Given the description of an element on the screen output the (x, y) to click on. 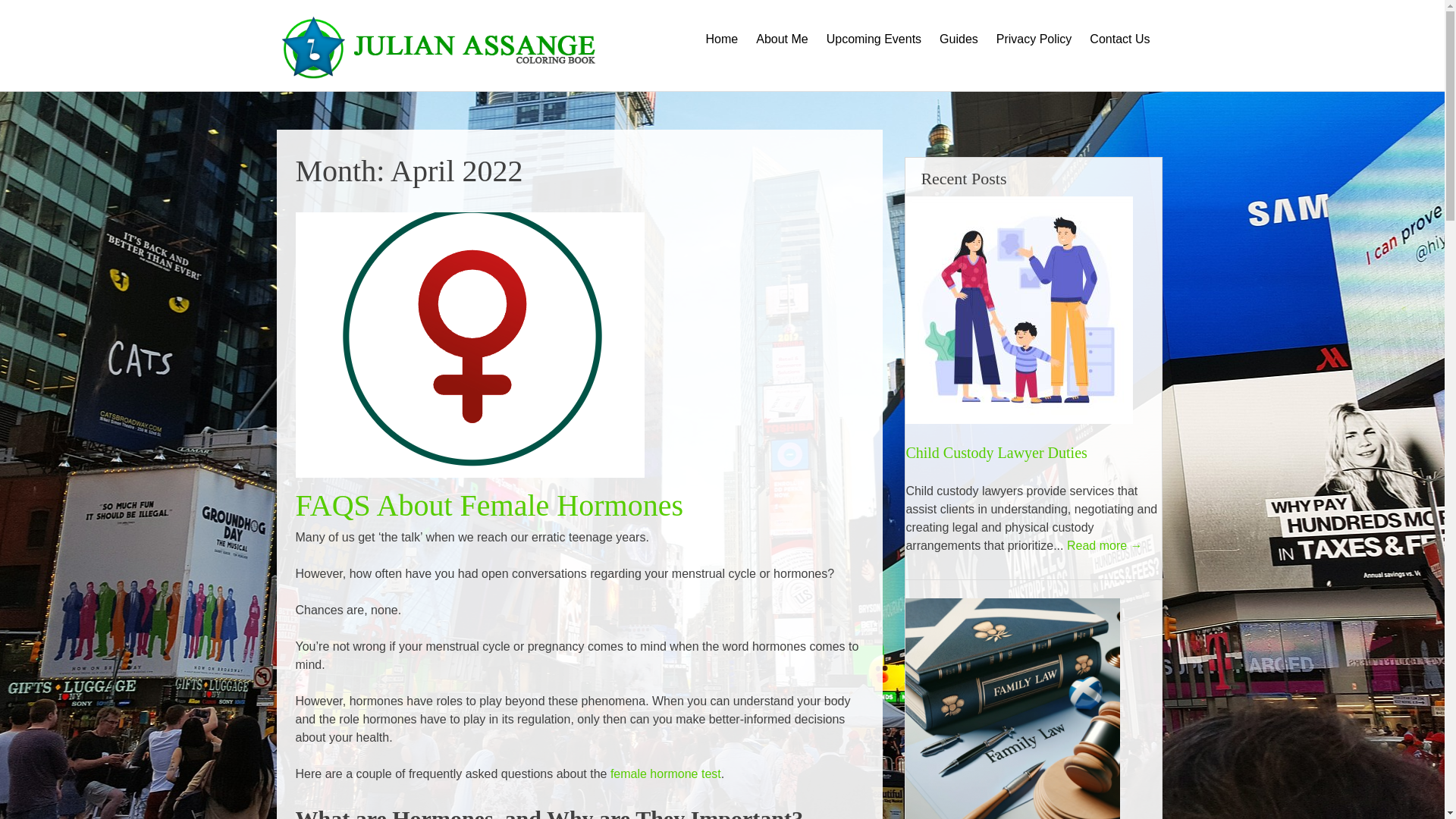
FAQS About Female Hormones (488, 505)
Upcoming Events (874, 53)
Contact Us (1119, 53)
About Me (781, 53)
Child Custody Lawyer Duties (995, 452)
Guides (958, 53)
Privacy Policy (1033, 53)
Home (722, 53)
female hormone test (665, 773)
